Given the description of an element on the screen output the (x, y) to click on. 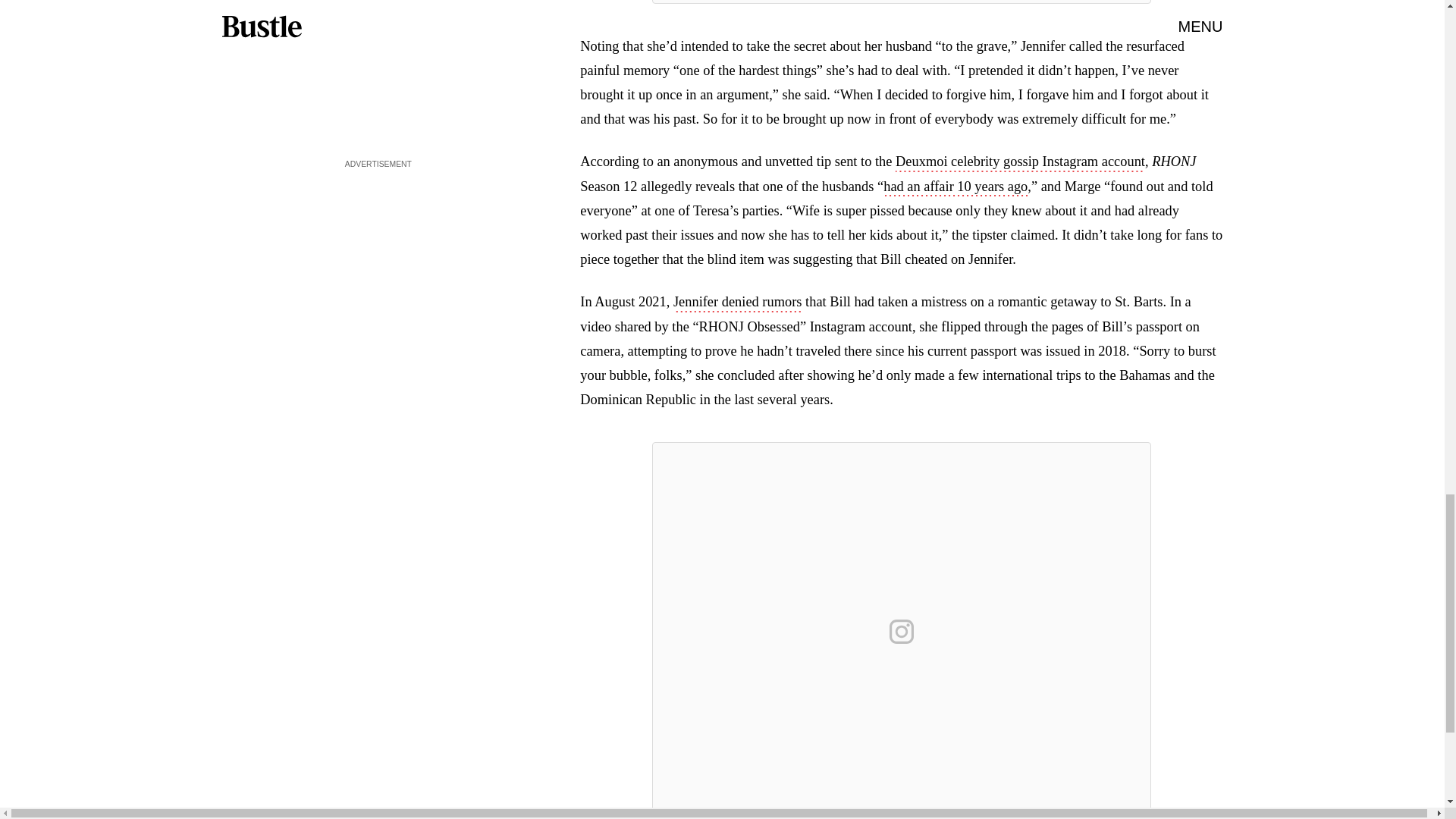
View on Instagram (901, 631)
Deuxmoi celebrity gossip Instagram account (1019, 162)
Jennifer denied rumors (737, 303)
had an affair 10 years ago (955, 188)
